Given the description of an element on the screen output the (x, y) to click on. 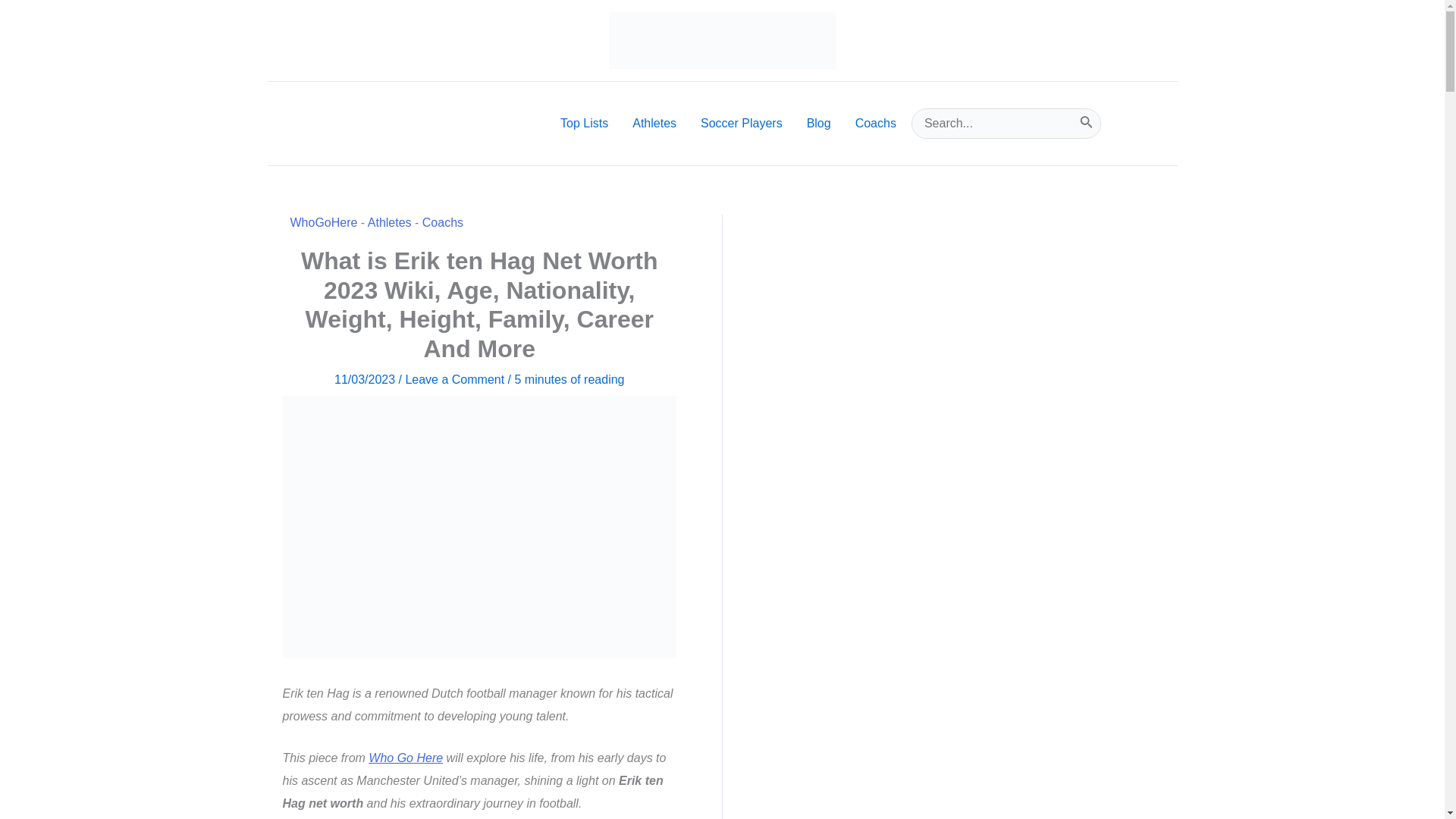
Top Lists (584, 123)
WhoGoHere (322, 222)
Who Go Here (405, 757)
Athletes (654, 123)
Coachs (442, 222)
Athletes (390, 222)
Leave a Comment (453, 379)
Soccer Players (741, 123)
